Given the description of an element on the screen output the (x, y) to click on. 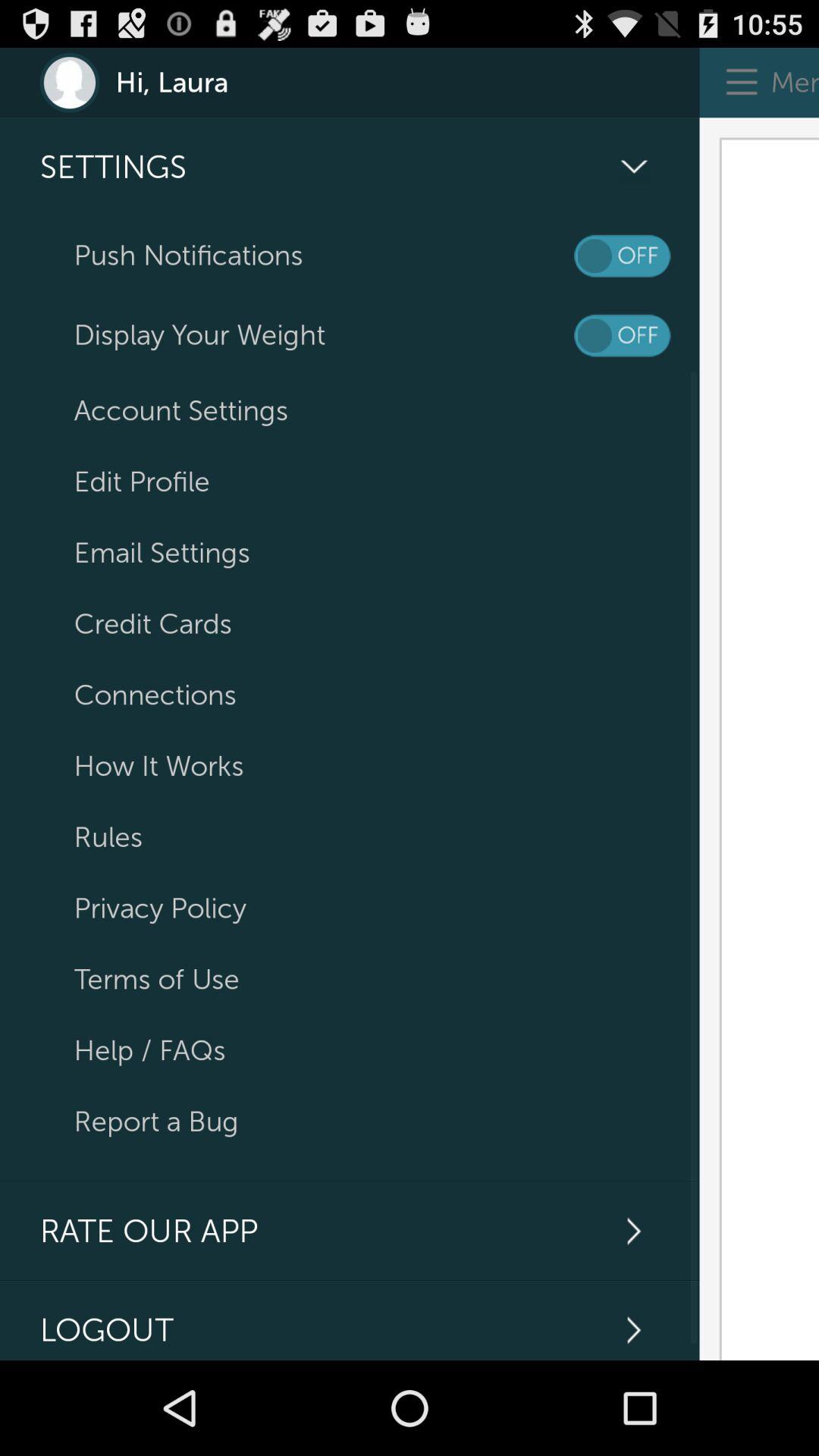
toggle on/off notifications (622, 255)
